Given the description of an element on the screen output the (x, y) to click on. 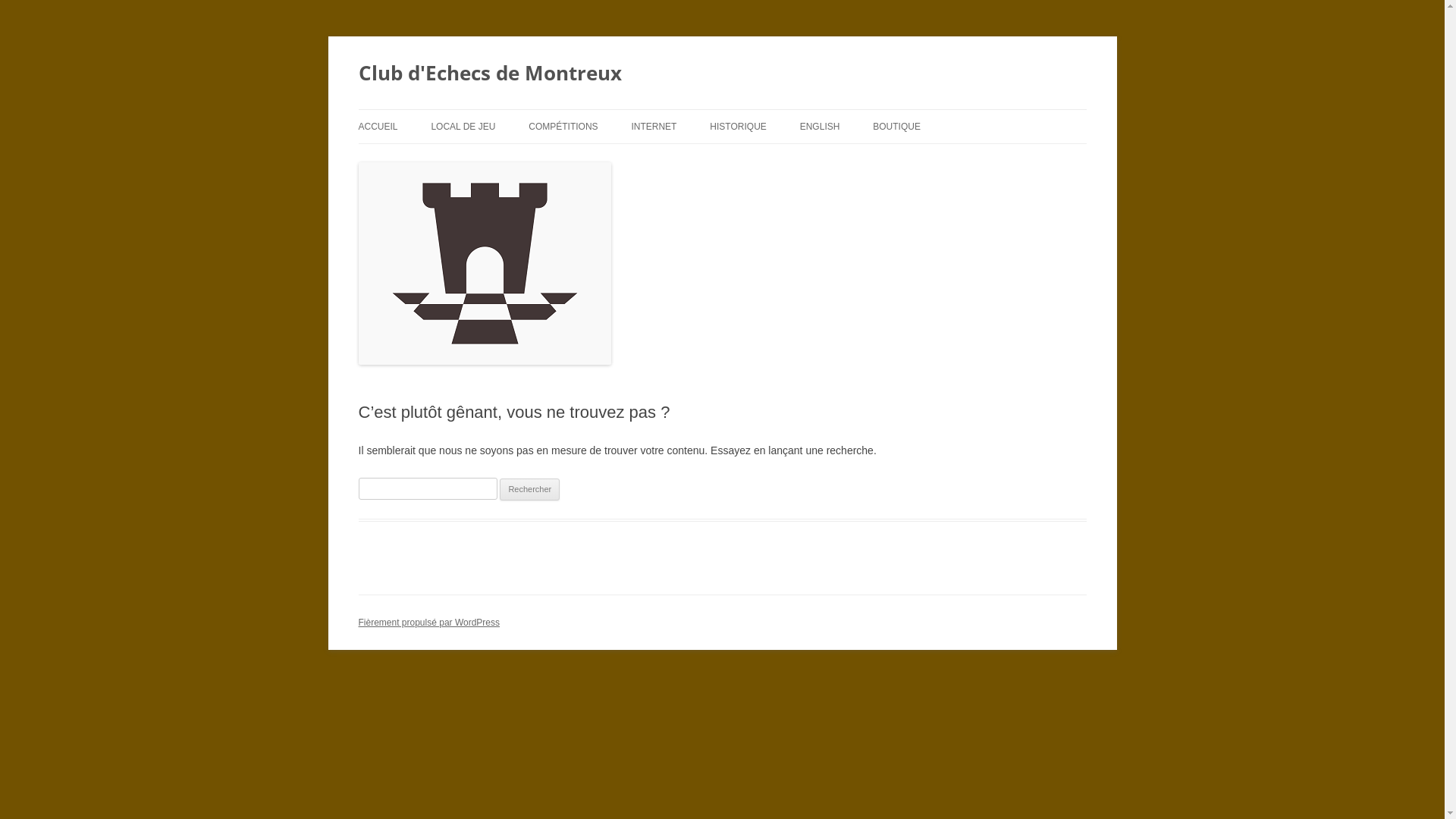
Club d'Echecs de Montreux Element type: text (489, 72)
BOUTIQUE Element type: text (896, 126)
HISTORIQUE Element type: text (737, 126)
Rechercher Element type: text (529, 489)
ACCUEIL Element type: text (377, 126)
LOCAL DE JEU Element type: text (462, 126)
INTERNET Element type: text (653, 126)
ENGLISH Element type: text (820, 126)
Aller au contenu Element type: text (721, 109)
